Given the description of an element on the screen output the (x, y) to click on. 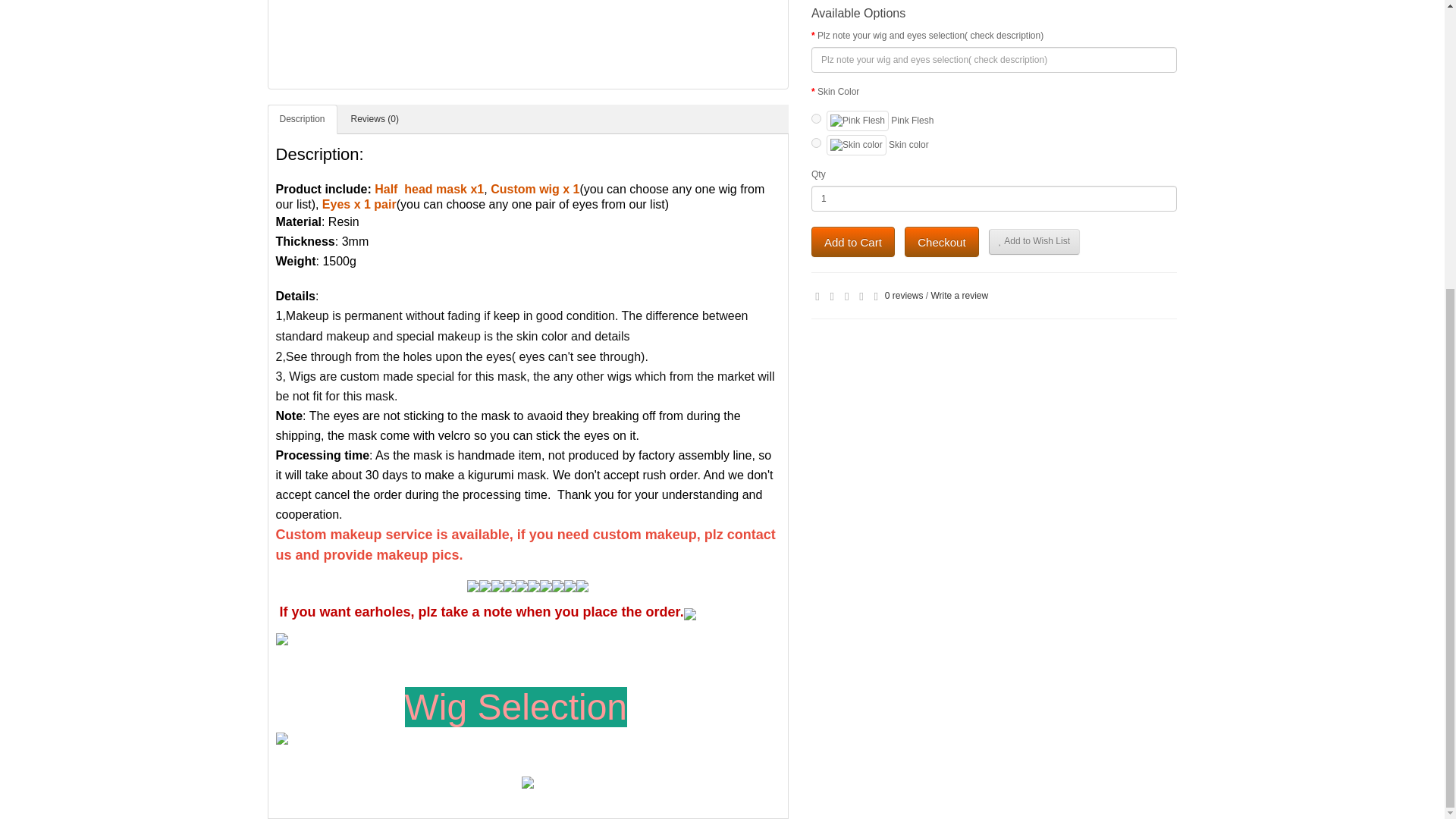
1565 (815, 118)
1 (993, 198)
1564 (815, 143)
Add to Wish List (1034, 241)
